Given the description of an element on the screen output the (x, y) to click on. 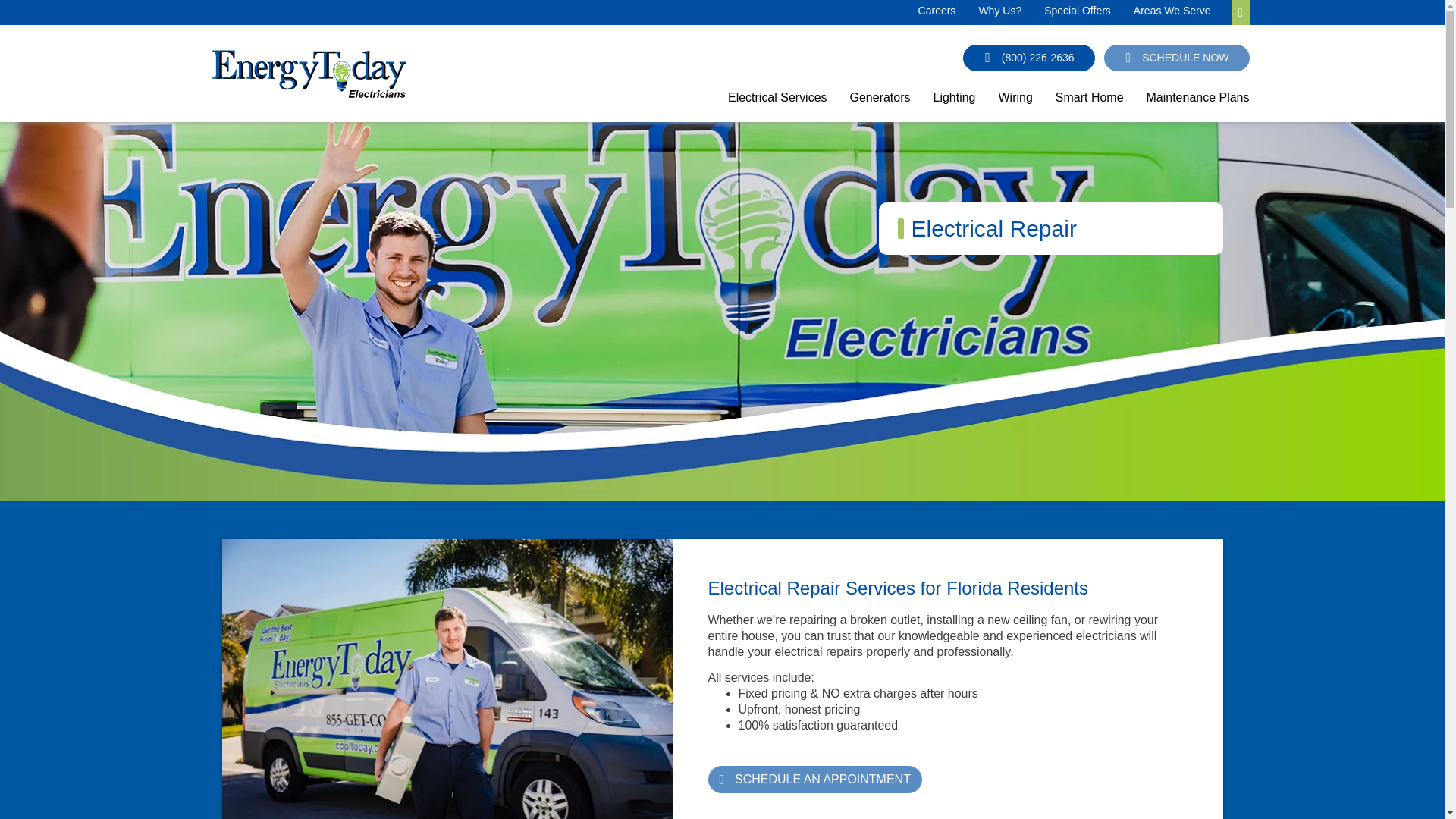
Wiring (1015, 103)
Generators (879, 103)
Why Us? (1000, 10)
Areas We Serve (1172, 10)
Careers (937, 10)
Electrical Services (777, 103)
Special Offers (1076, 10)
SCHEDULE NOW (1176, 58)
Lighting (954, 103)
